Given the description of an element on the screen output the (x, y) to click on. 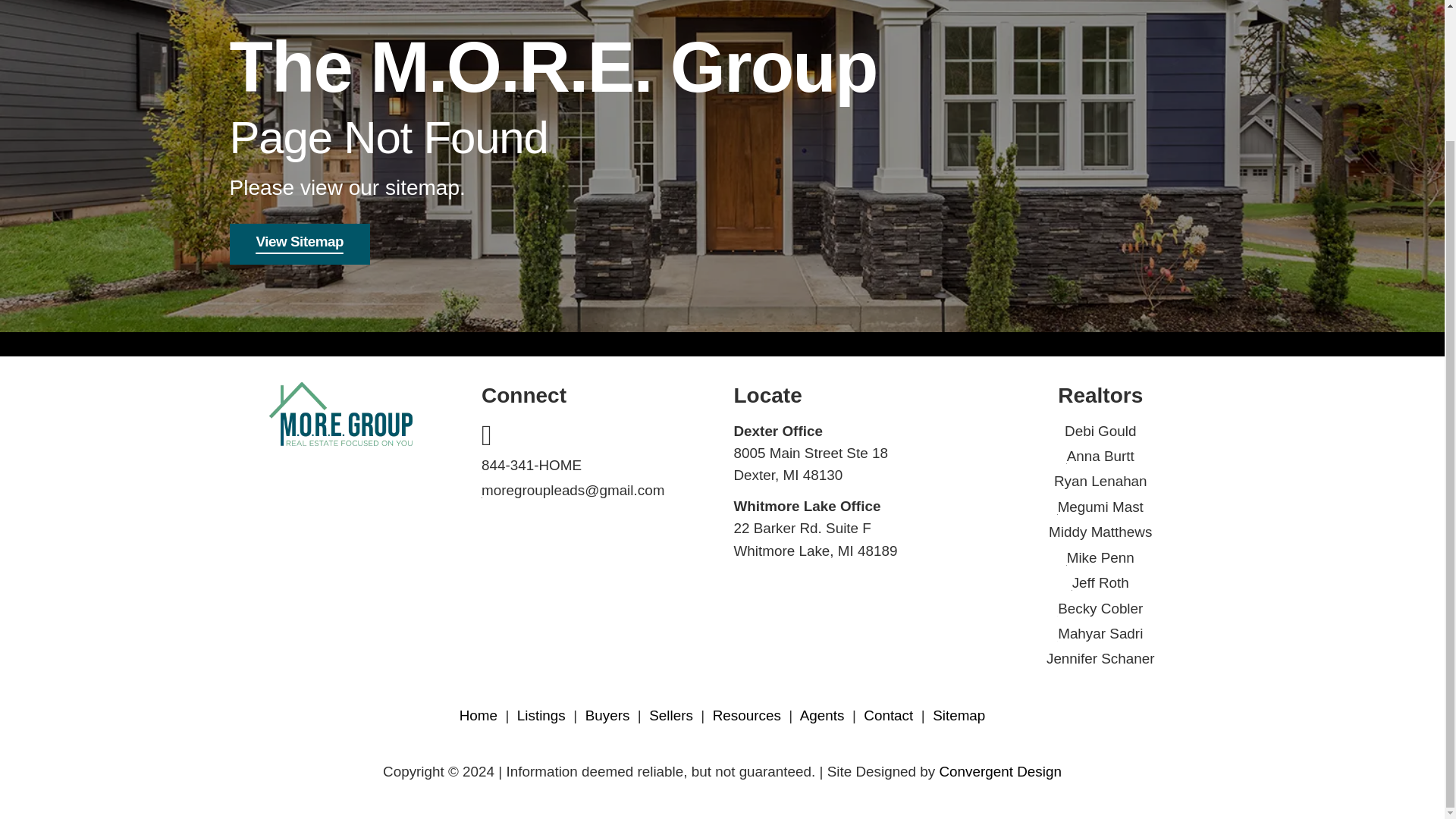
Agents (821, 715)
Resources (746, 715)
Jennifer Schaner (1100, 658)
Sellers (671, 715)
Jeff Roth (1100, 582)
Middy Matthews (1099, 531)
Mike Penn (1100, 557)
Anna Burtt (1100, 455)
Mahyar Sadri (1100, 633)
Ryan Lenahan (1100, 480)
Buyers (607, 715)
Debi Gould (1099, 430)
844-341-HOME (530, 465)
Megumi Mast (1100, 506)
Home (478, 715)
